Given the description of an element on the screen output the (x, y) to click on. 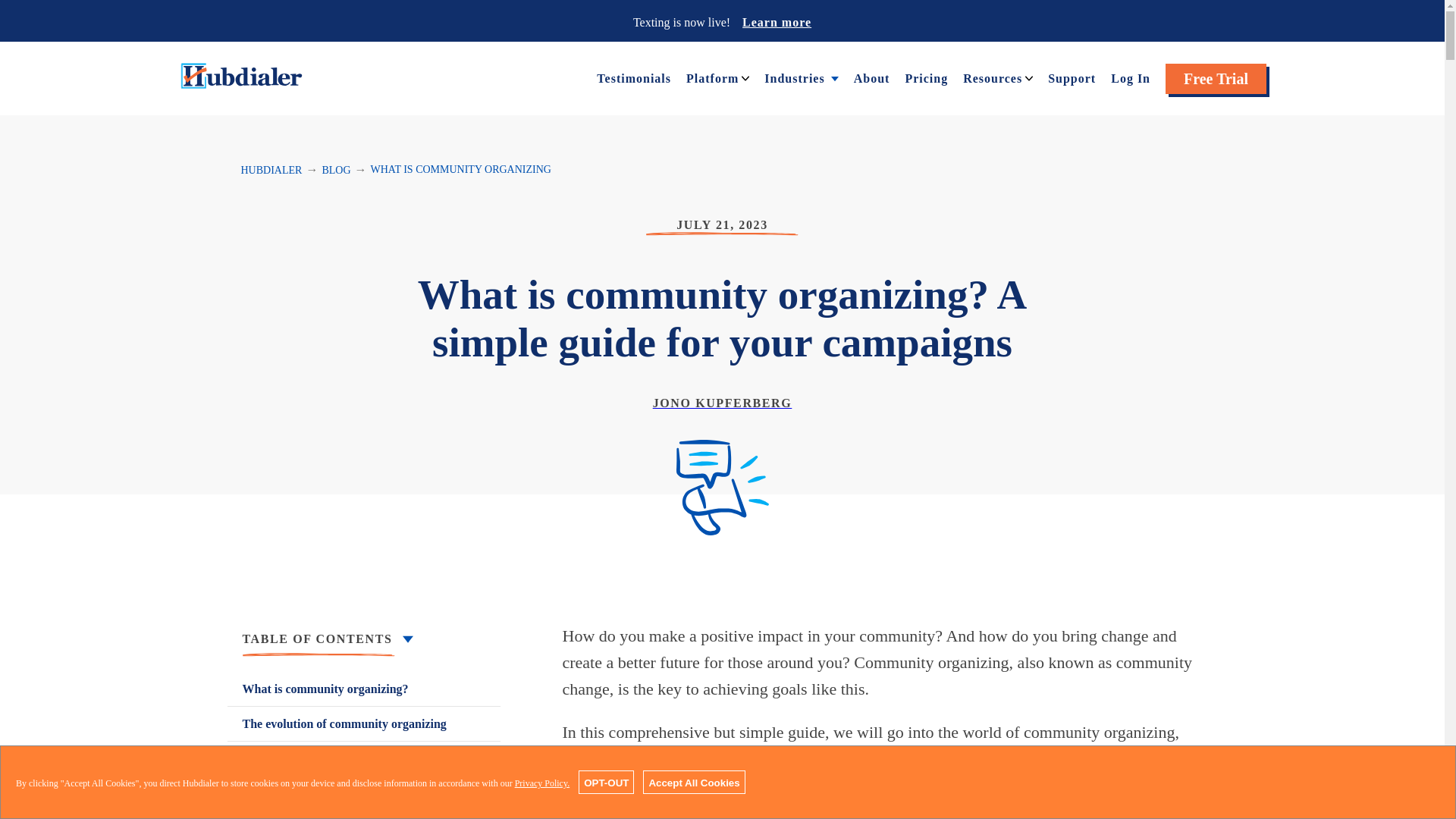
Pricing (925, 77)
Industries (794, 77)
The evolution of community organizing (363, 723)
About (871, 77)
What are the other steps in successful community organizing? (363, 807)
Platform (711, 77)
Log In (1130, 77)
OPT-OUT (605, 781)
Privacy Policy. (542, 783)
Testimonials (633, 77)
Support (1072, 77)
HUBDIALER (271, 170)
BLOG (335, 170)
Free Trial (1216, 78)
